Given the description of an element on the screen output the (x, y) to click on. 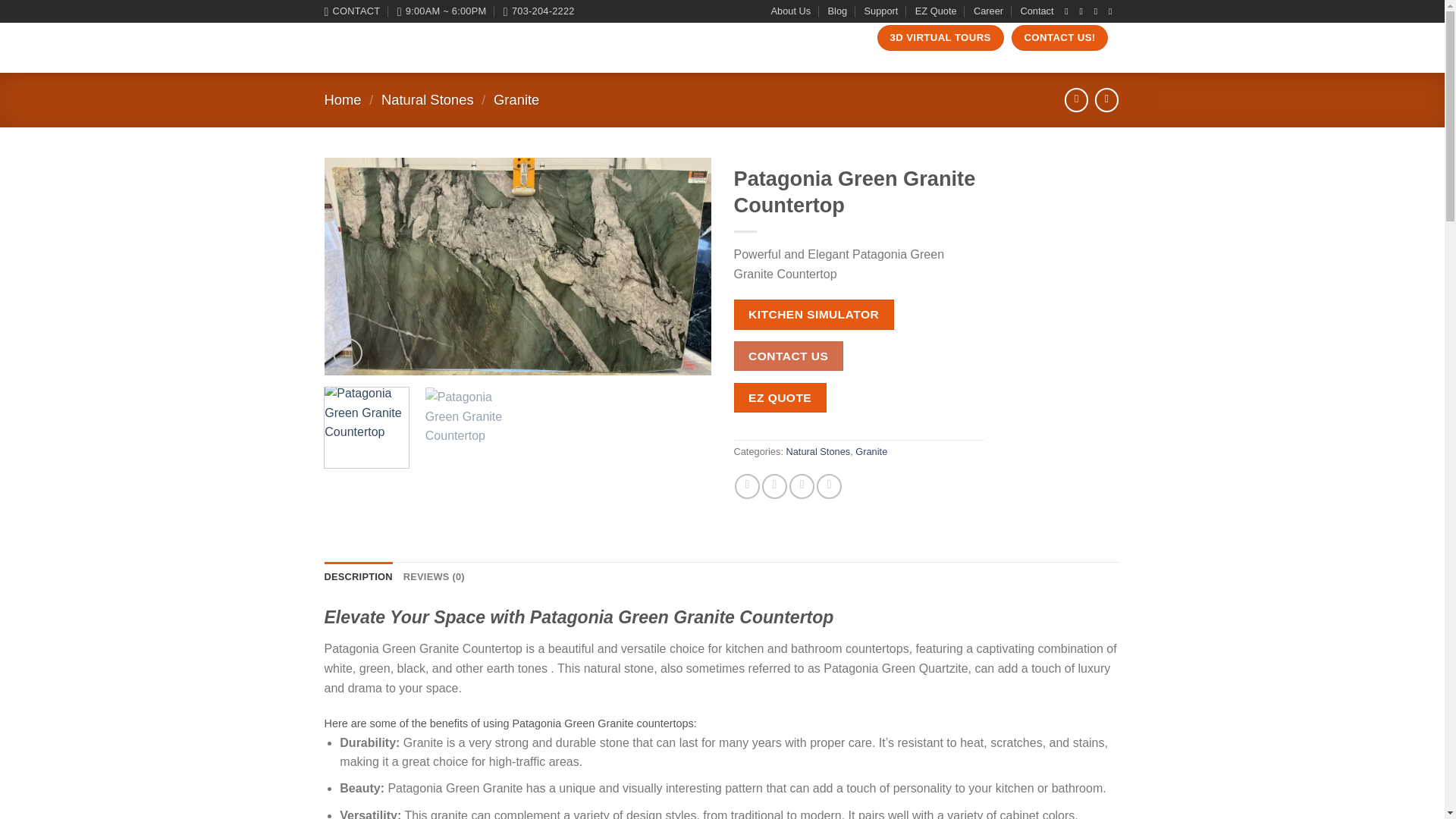
Blog (837, 11)
ABOUT US (454, 37)
Follow on Instagram (1084, 10)
703-204-2222 (539, 11)
Career (988, 11)
703-204-2222 (539, 11)
About Us (790, 11)
Support (881, 11)
Send us an email (1098, 10)
Follow on Pinterest (1113, 10)
Contact (1036, 11)
CONTACT (352, 11)
Follow on Facebook (1069, 10)
EZ Quote (935, 11)
PRODUCTS (518, 37)
